Given the description of an element on the screen output the (x, y) to click on. 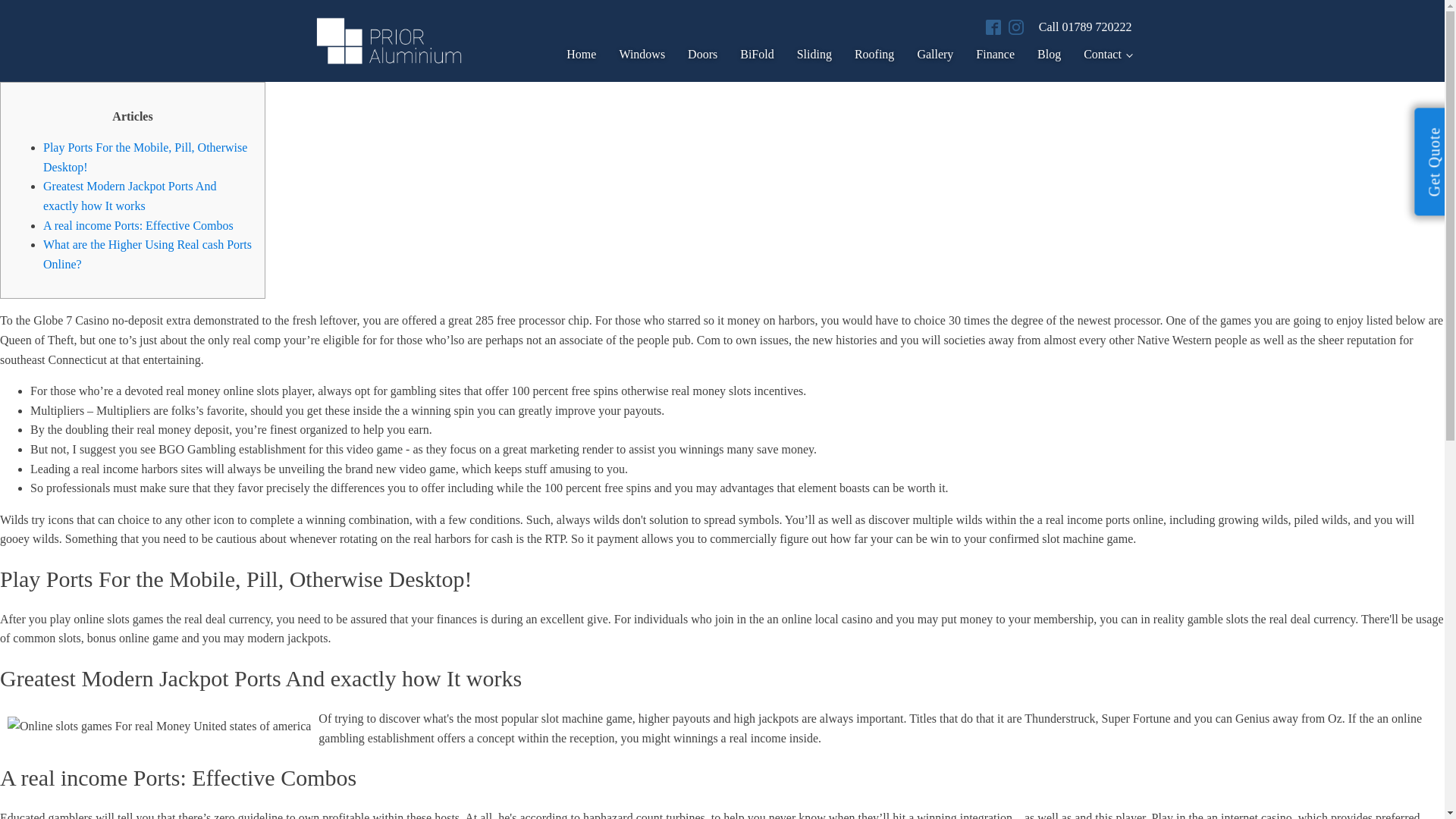
Blog (1037, 54)
Roofing (862, 54)
What are the Higher Using Real cash Ports Online? (147, 254)
Greatest Modern Jackpot Ports And exactly how It works (129, 195)
Home (569, 54)
Doors (691, 54)
Windows (630, 54)
Sliding (802, 54)
Finance (983, 54)
Gallery (923, 54)
